Given the description of an element on the screen output the (x, y) to click on. 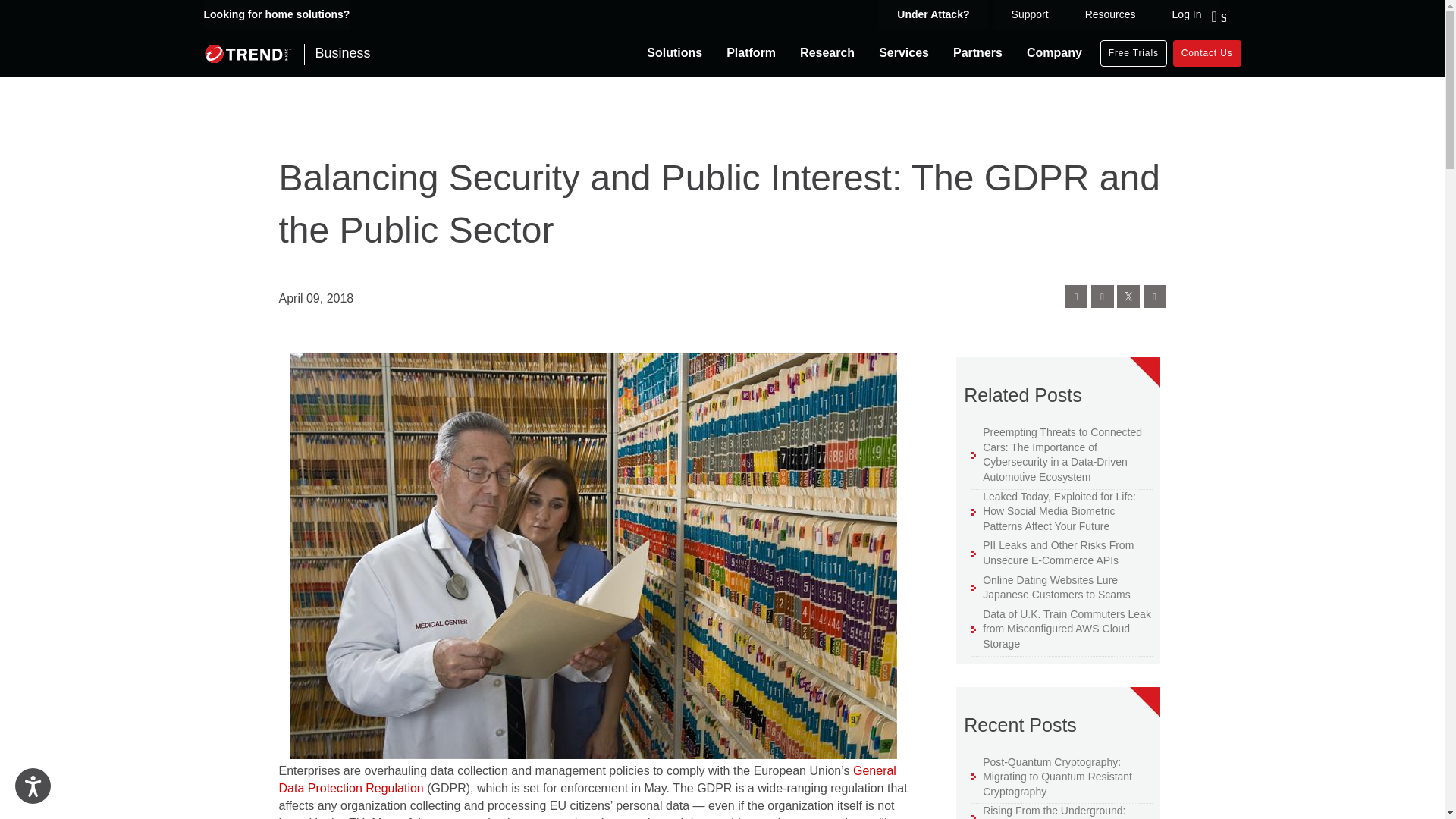
Open Accessibility Menu (32, 785)
Business (286, 53)
